Given the description of an element on the screen output the (x, y) to click on. 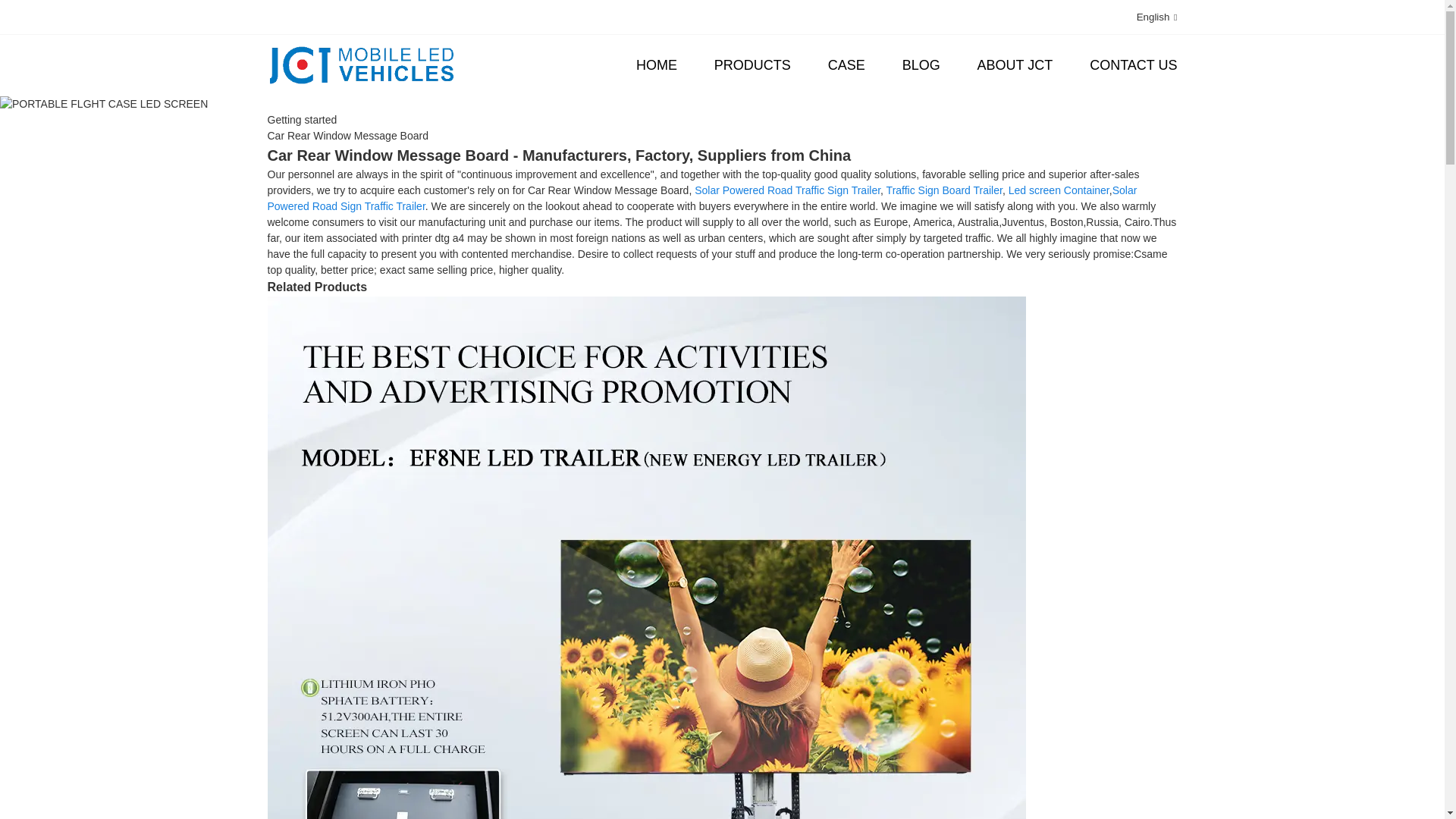
Getting started (301, 119)
ABOUT JCT (1014, 65)
CONTACT US (1132, 65)
Solar Powered Road Sign Traffic Trailer (701, 198)
Battery Power Billboard Trailer (645, 674)
Traffic Sign Board Trailer (944, 190)
PRODUCTS (752, 65)
Car Rear Window Message Board (347, 135)
Solar Powered Road Sign Traffic Trailer (701, 198)
Led screen Container (1059, 190)
